Given the description of an element on the screen output the (x, y) to click on. 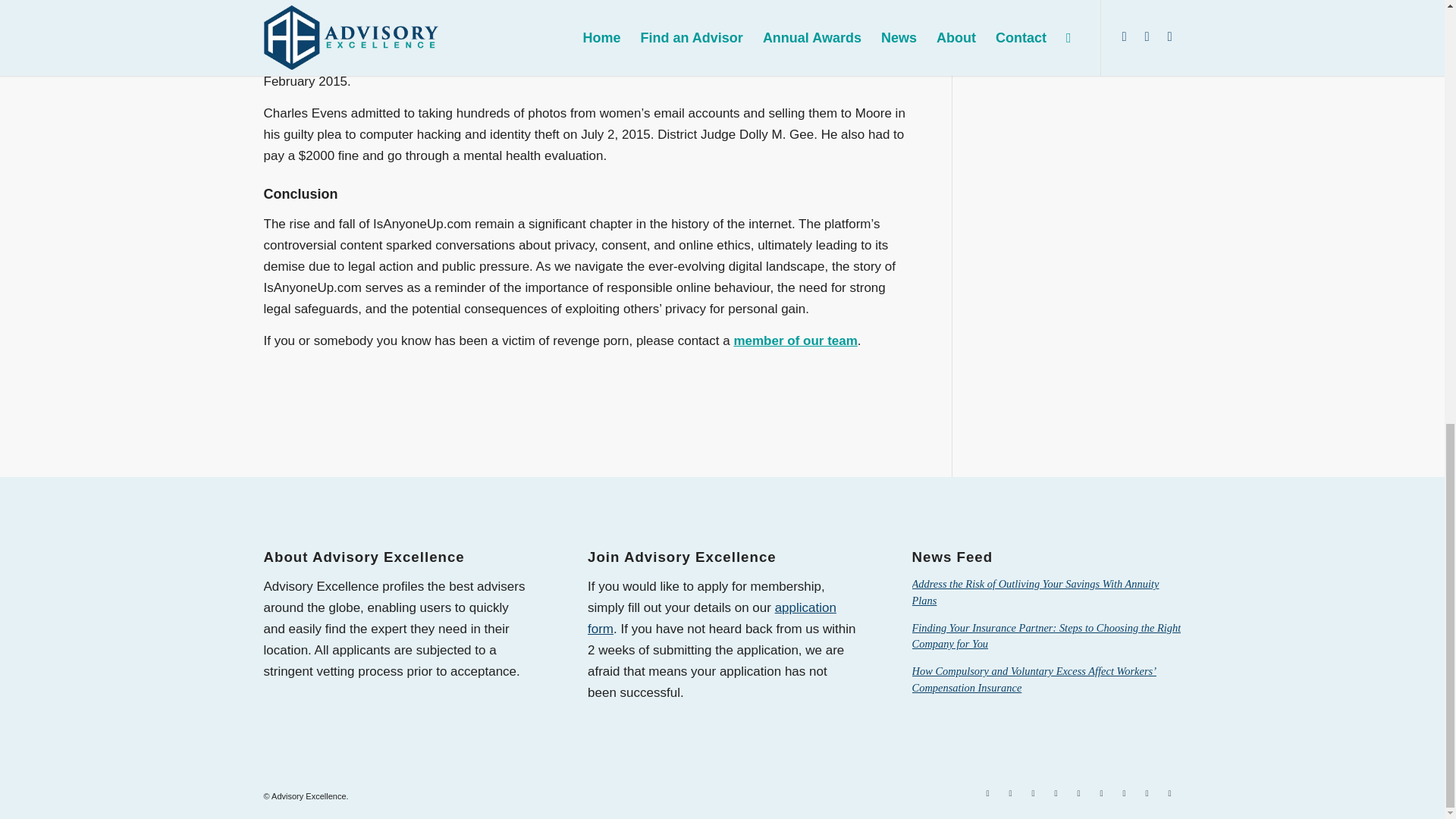
member of our team (795, 340)
application form (711, 618)
Advisory Excellence (308, 795)
